Given the description of an element on the screen output the (x, y) to click on. 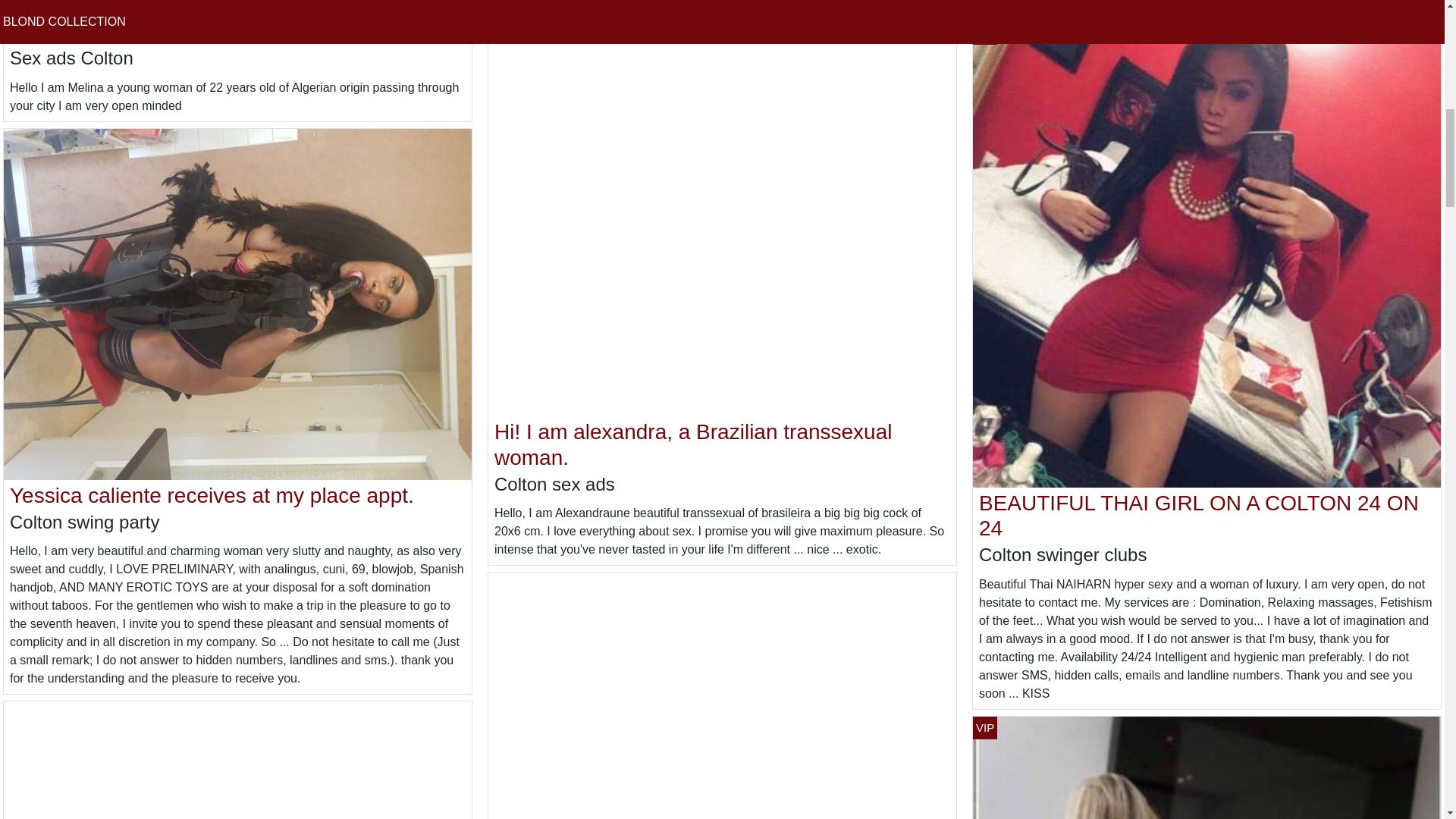
Yessica caliente receives at my place appt. (211, 495)
Hi! I am alexandra, a Brazilian transsexual woman. (693, 444)
